Given the description of an element on the screen output the (x, y) to click on. 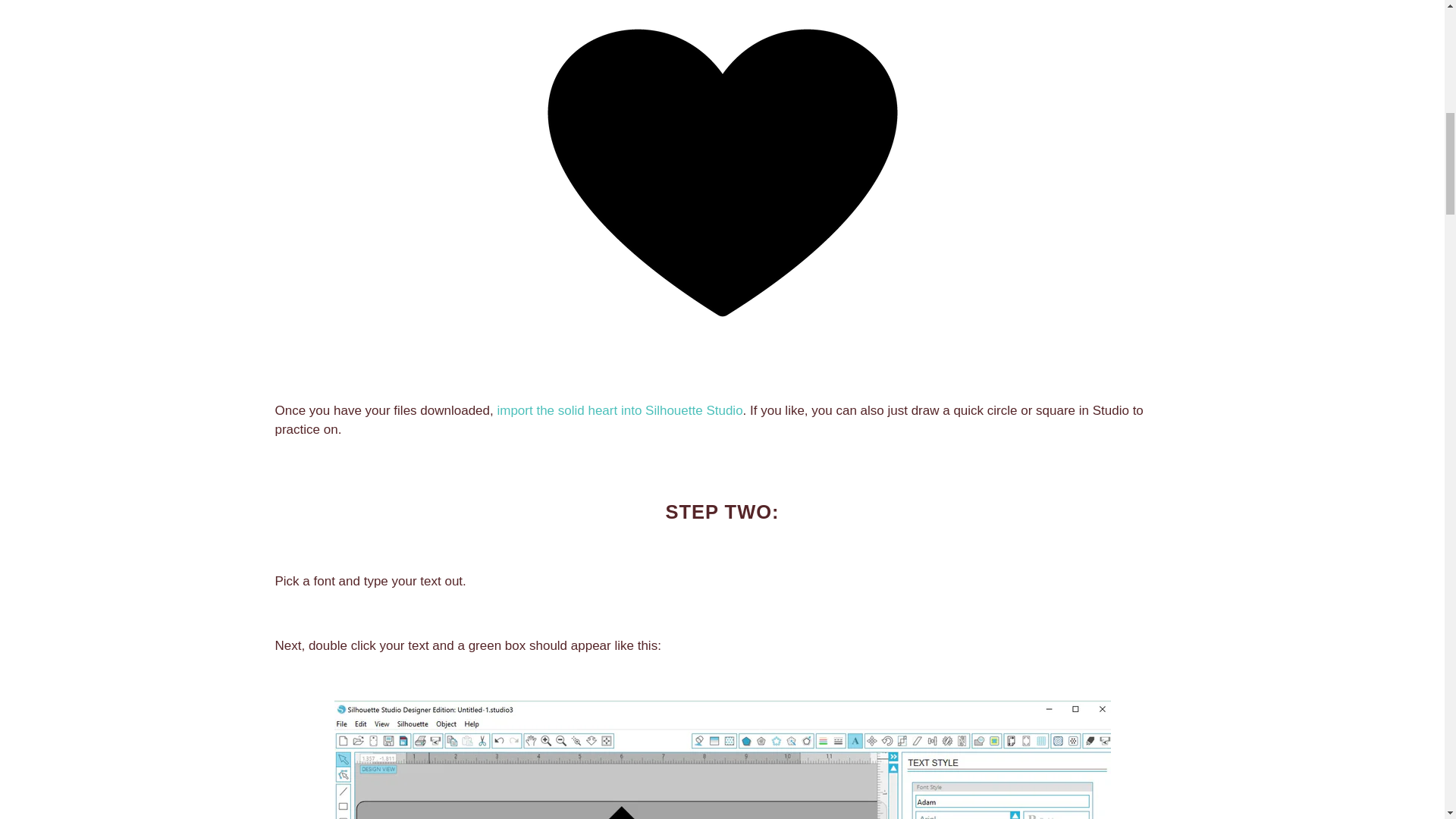
Importing SVG and DXF Files in Silhouette Studio (619, 410)
